Given the description of an element on the screen output the (x, y) to click on. 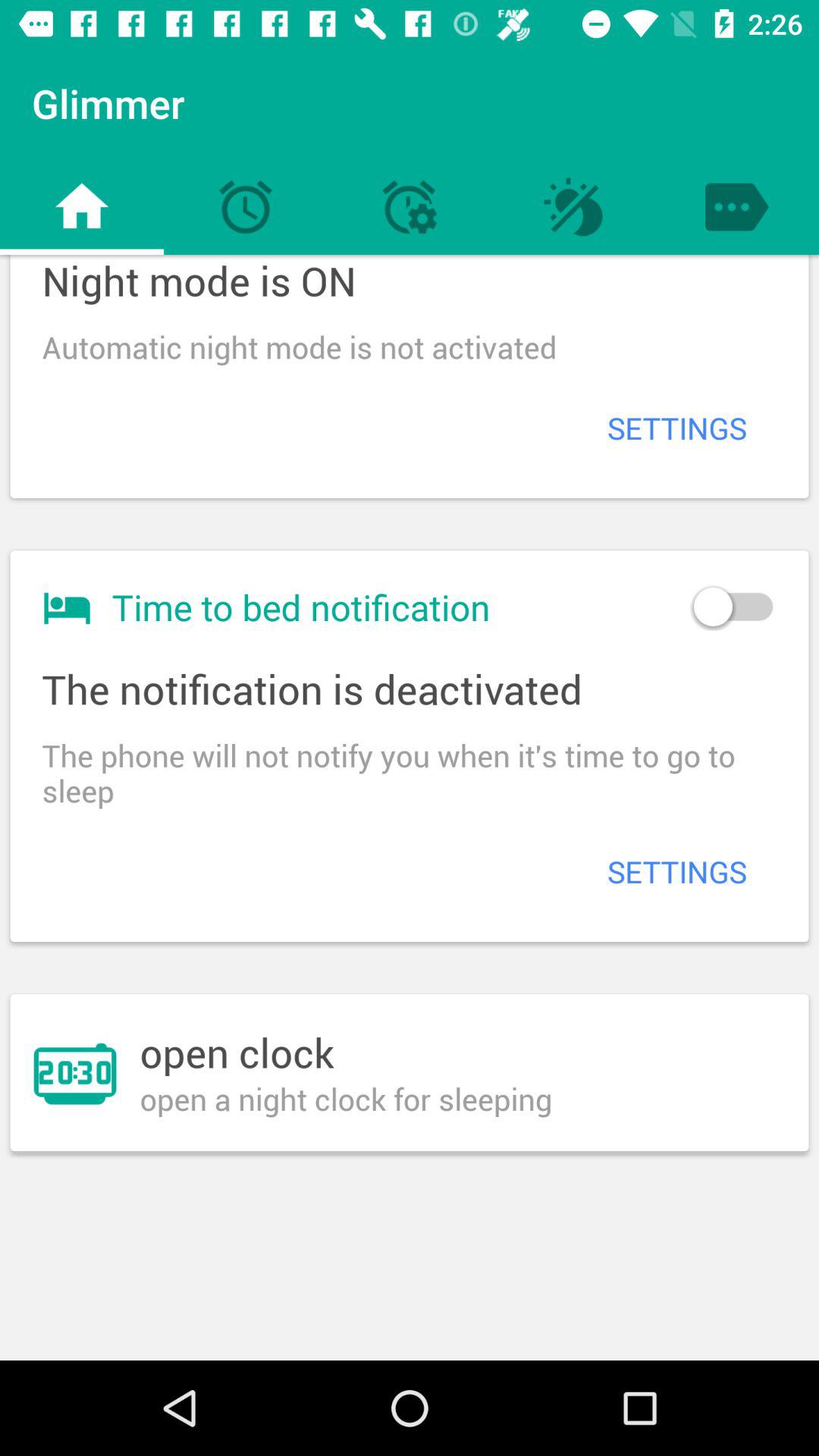
open icon to the right of time to bed icon (732, 606)
